Given the description of an element on the screen output the (x, y) to click on. 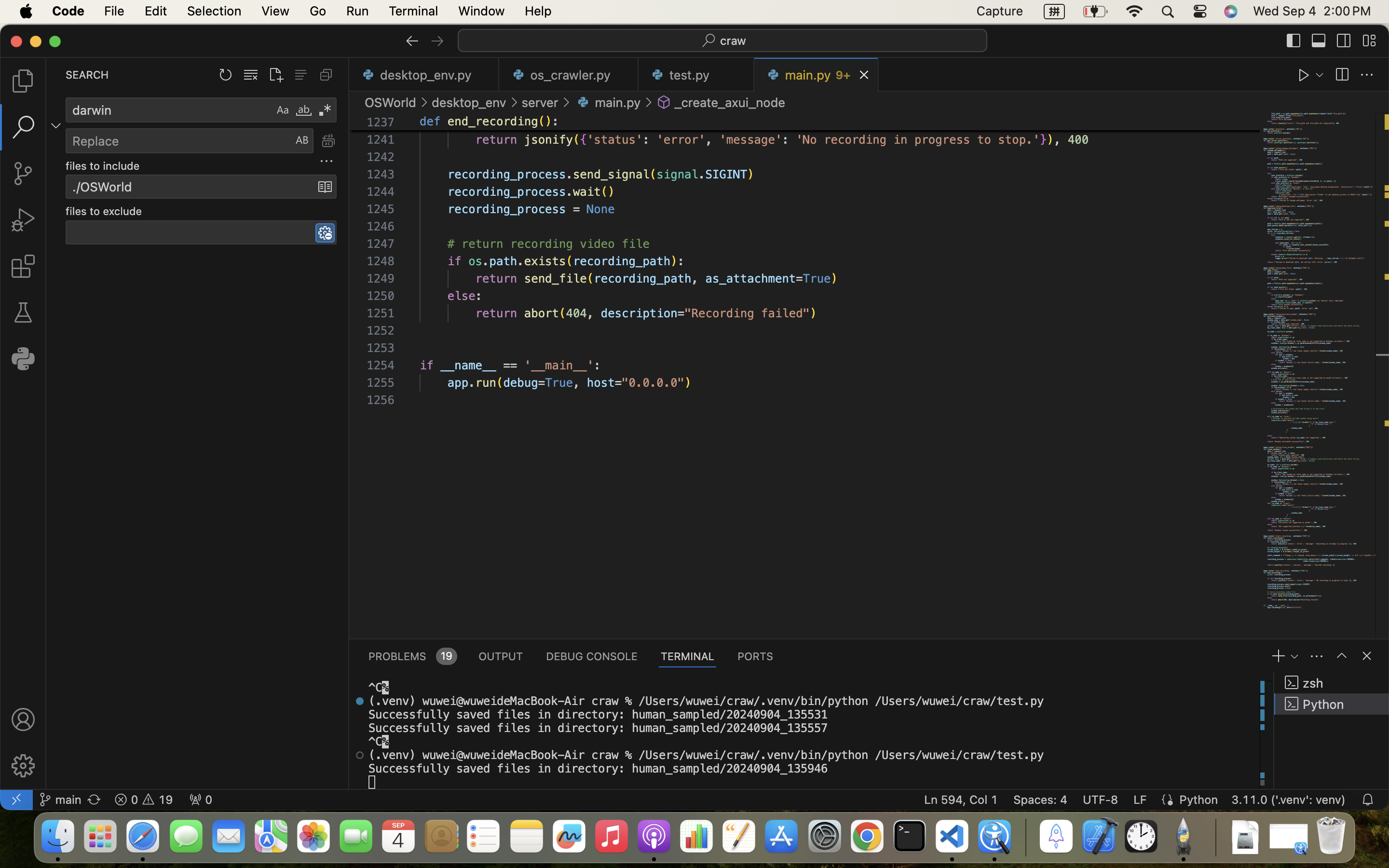
0 desktop_env.py   Element type: AXRadioButton (424, 74)
 Element type: AXStaticText (359, 754)
0 PORTS Element type: AXRadioButton (755, 655)
0 Element type: AXRadioButton (23, 358)
end_recording Element type: AXStaticText (492, 121)
